Given the description of an element on the screen output the (x, y) to click on. 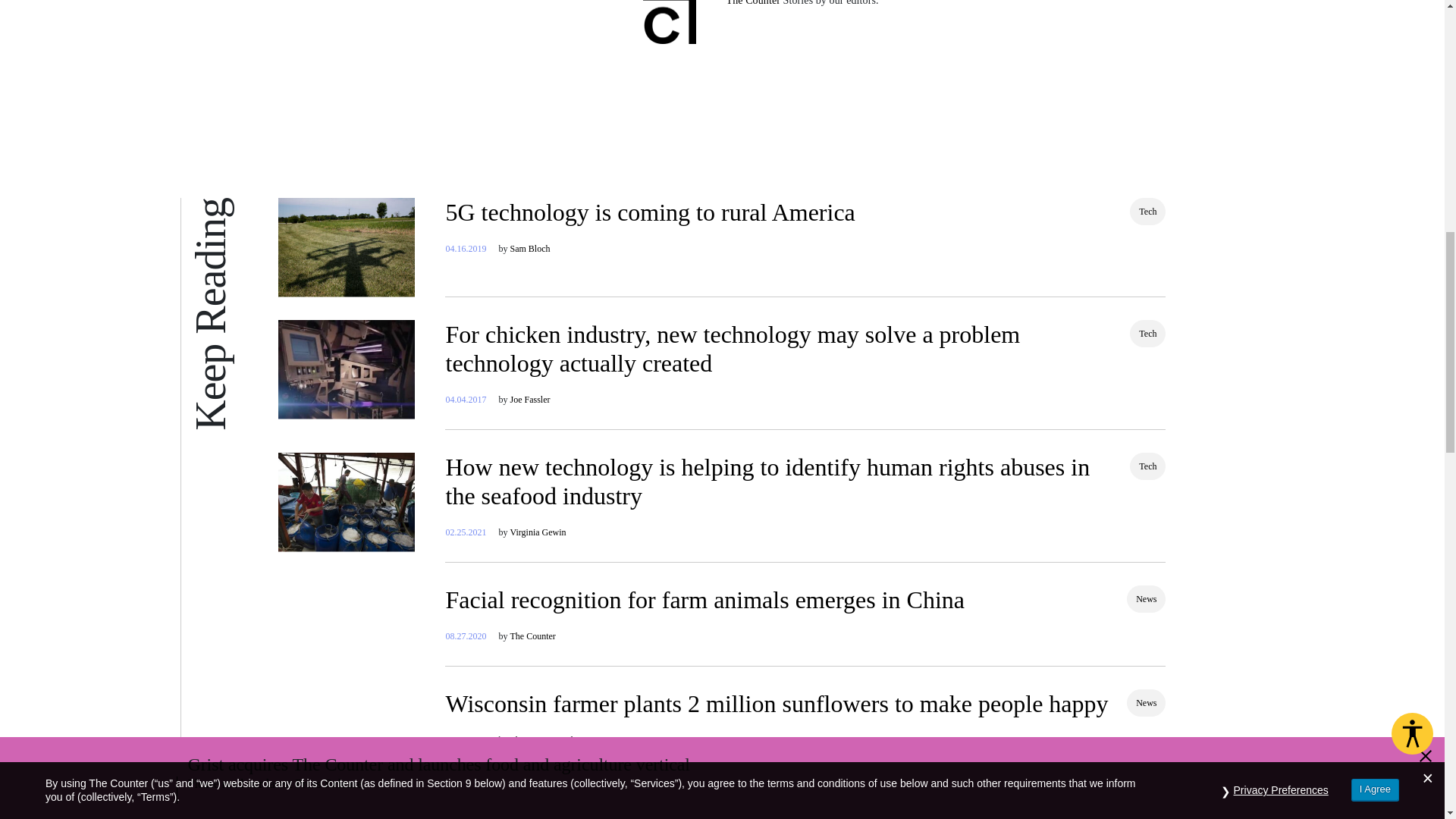
5G technology is coming to rural America (649, 212)
The Counter (753, 2)
